Given the description of an element on the screen output the (x, y) to click on. 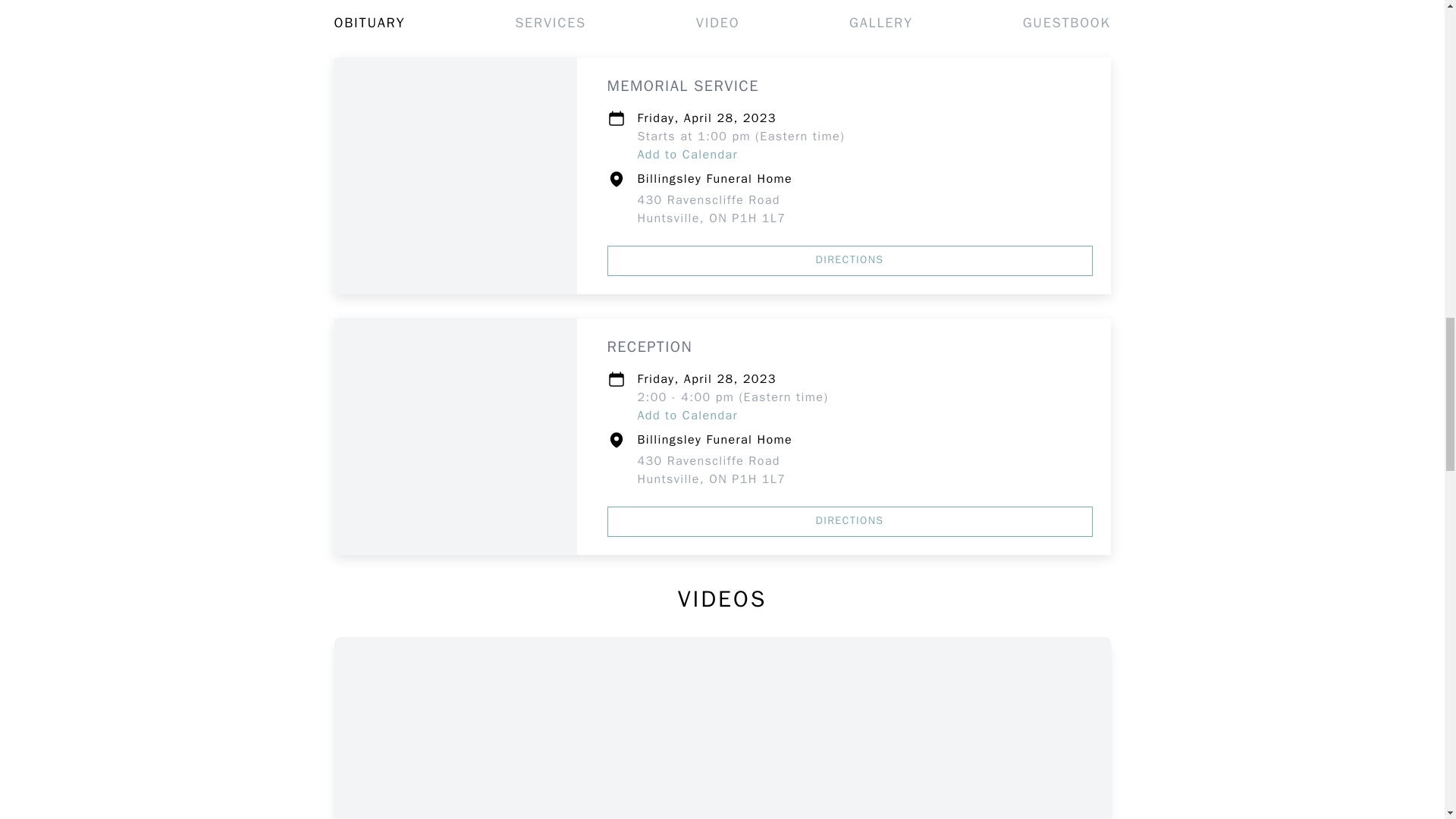
Add to Calendar (687, 154)
DIRECTIONS (711, 469)
DIRECTIONS (849, 7)
Add to Calendar (849, 521)
DIRECTIONS (687, 415)
